Given the description of an element on the screen output the (x, y) to click on. 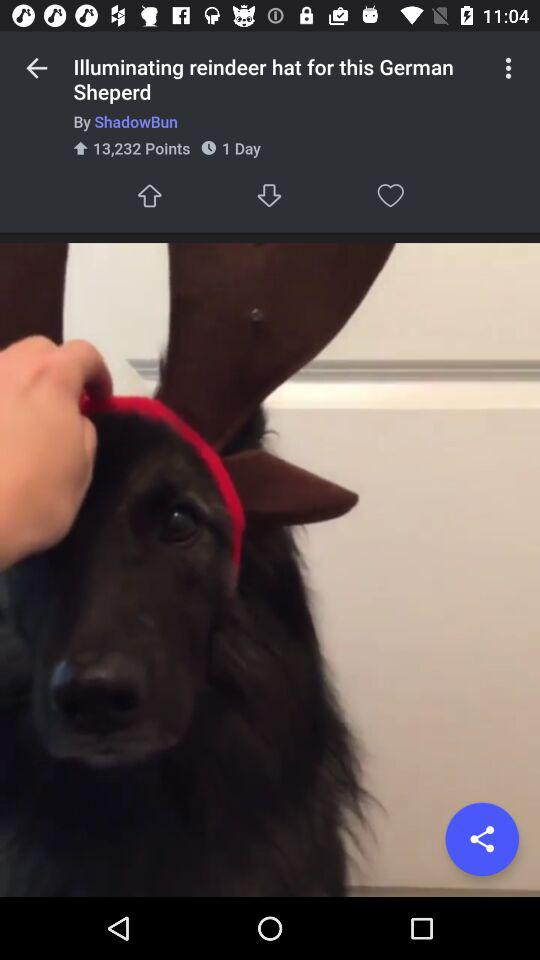
select icon below the 1 day item (269, 195)
